Given the description of an element on the screen output the (x, y) to click on. 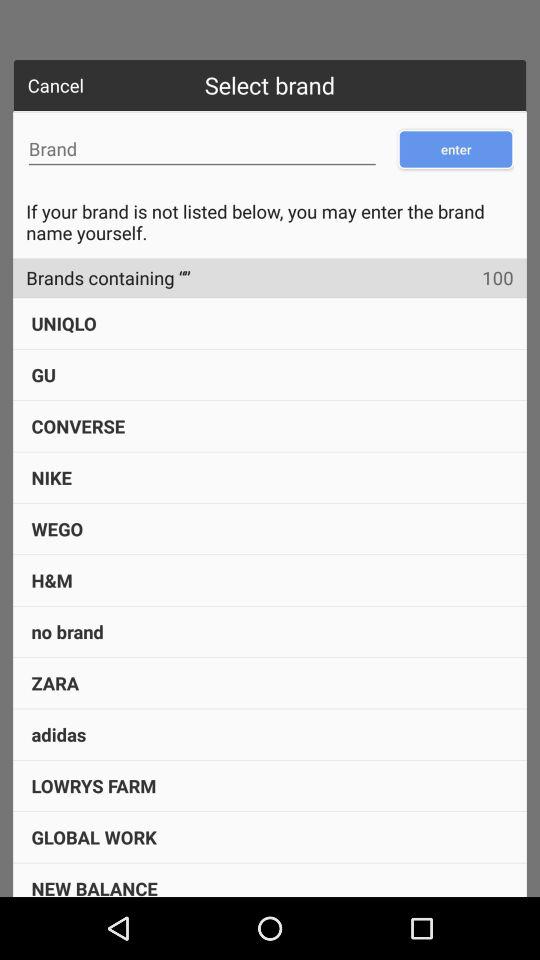
swipe until the lowrys farm item (93, 785)
